Given the description of an element on the screen output the (x, y) to click on. 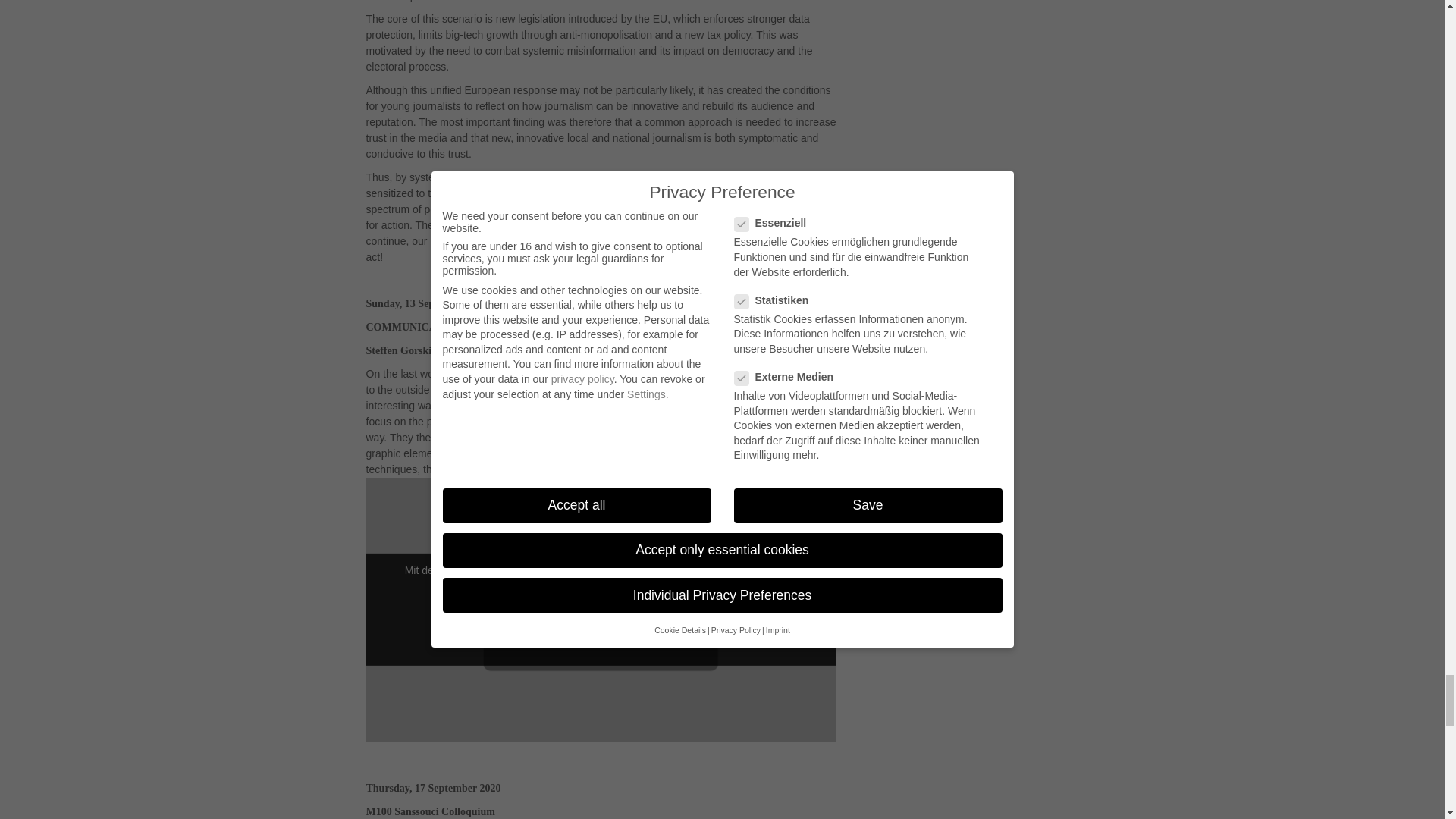
1 (543, 639)
Video laden (601, 609)
Mehr erfahren (600, 582)
